Given the description of an element on the screen output the (x, y) to click on. 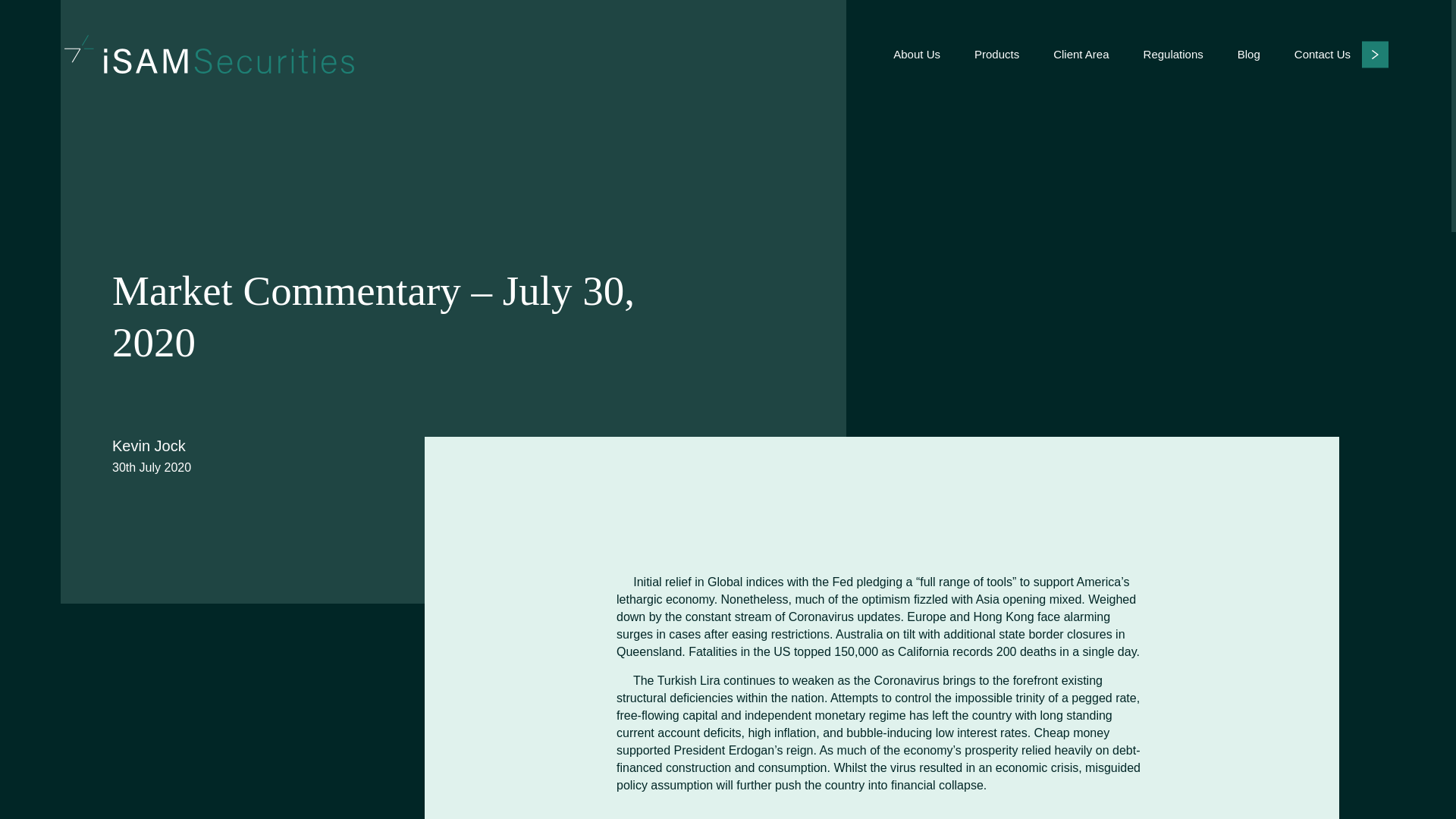
Regulations (1173, 53)
Blog (1248, 53)
Contact Us (1341, 53)
Client Area (1080, 53)
About Us (916, 53)
Products (996, 53)
